Given the description of an element on the screen output the (x, y) to click on. 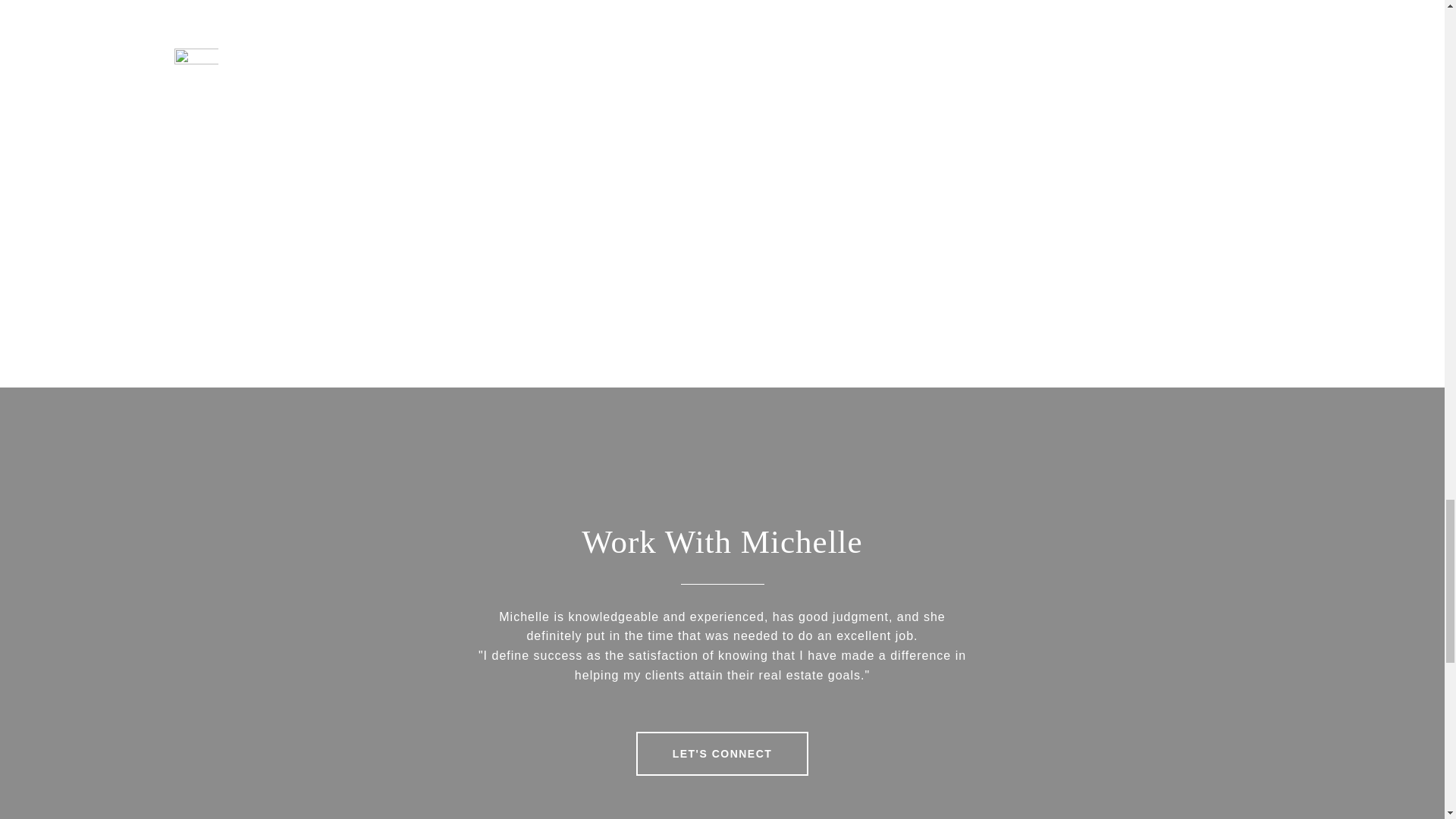
LET'S CONNECT (722, 753)
